Given the description of an element on the screen output the (x, y) to click on. 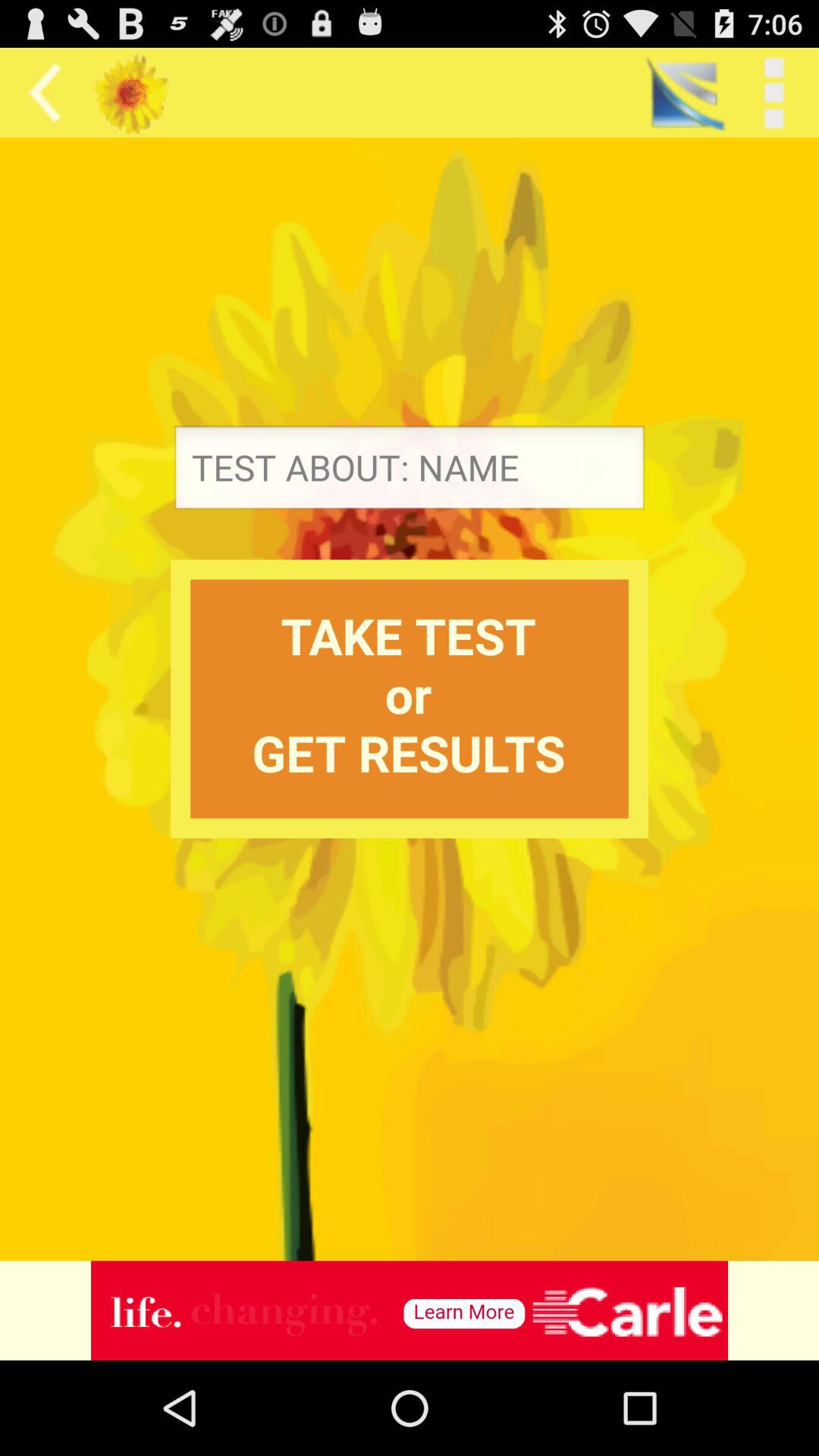
text about name (409, 471)
